Given the description of an element on the screen output the (x, y) to click on. 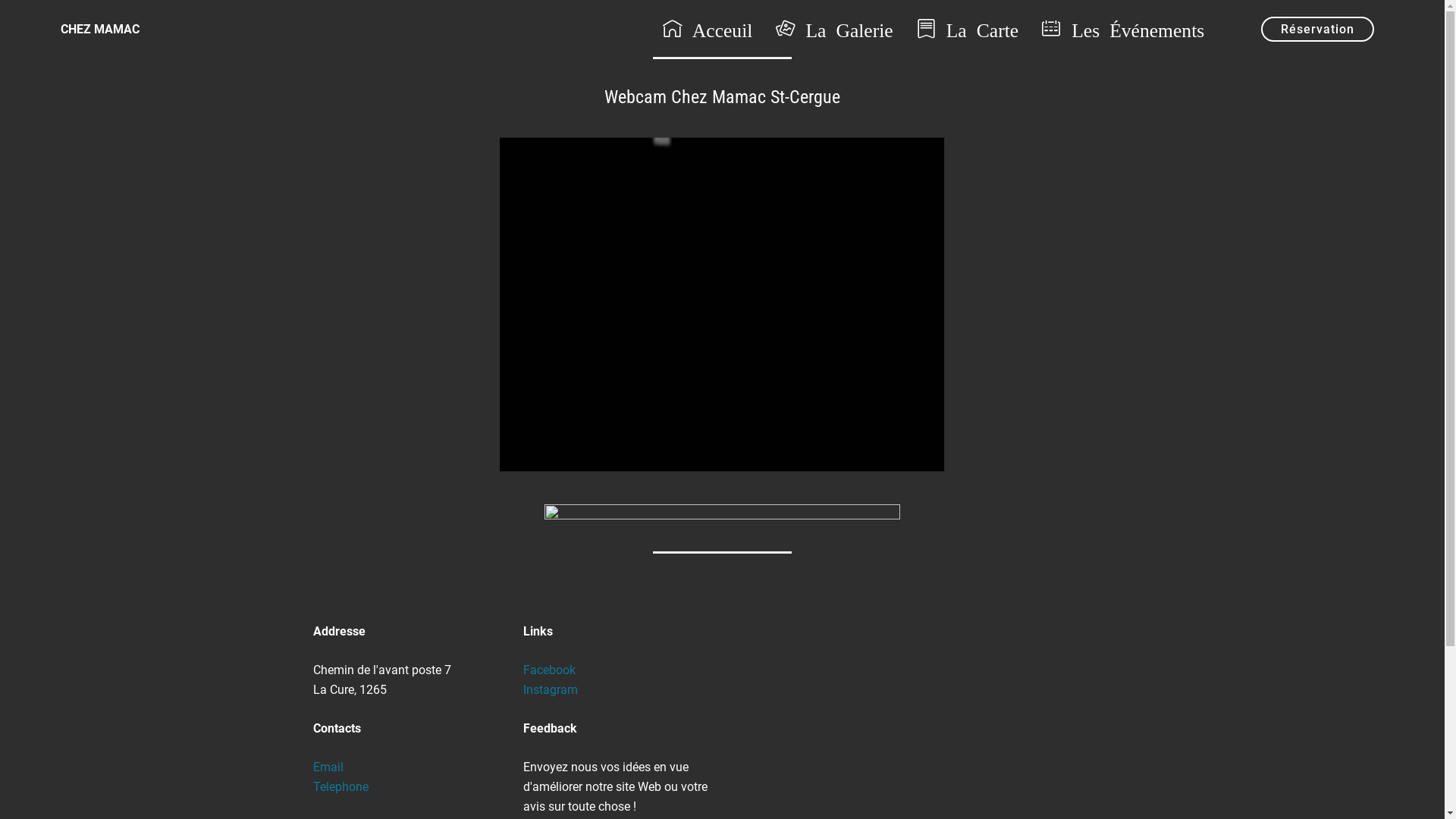
 Acceuil Element type: text (711, 28)
Email Element type: text (327, 766)
 La Galerie Element type: text (837, 28)
Facebook Element type: text (549, 669)
Instagram Element type: text (550, 689)
 La Carte Element type: text (971, 28)
CHEZ MAMAC Element type: text (111, 28)
Telephone Element type: text (339, 786)
